Given the description of an element on the screen output the (x, y) to click on. 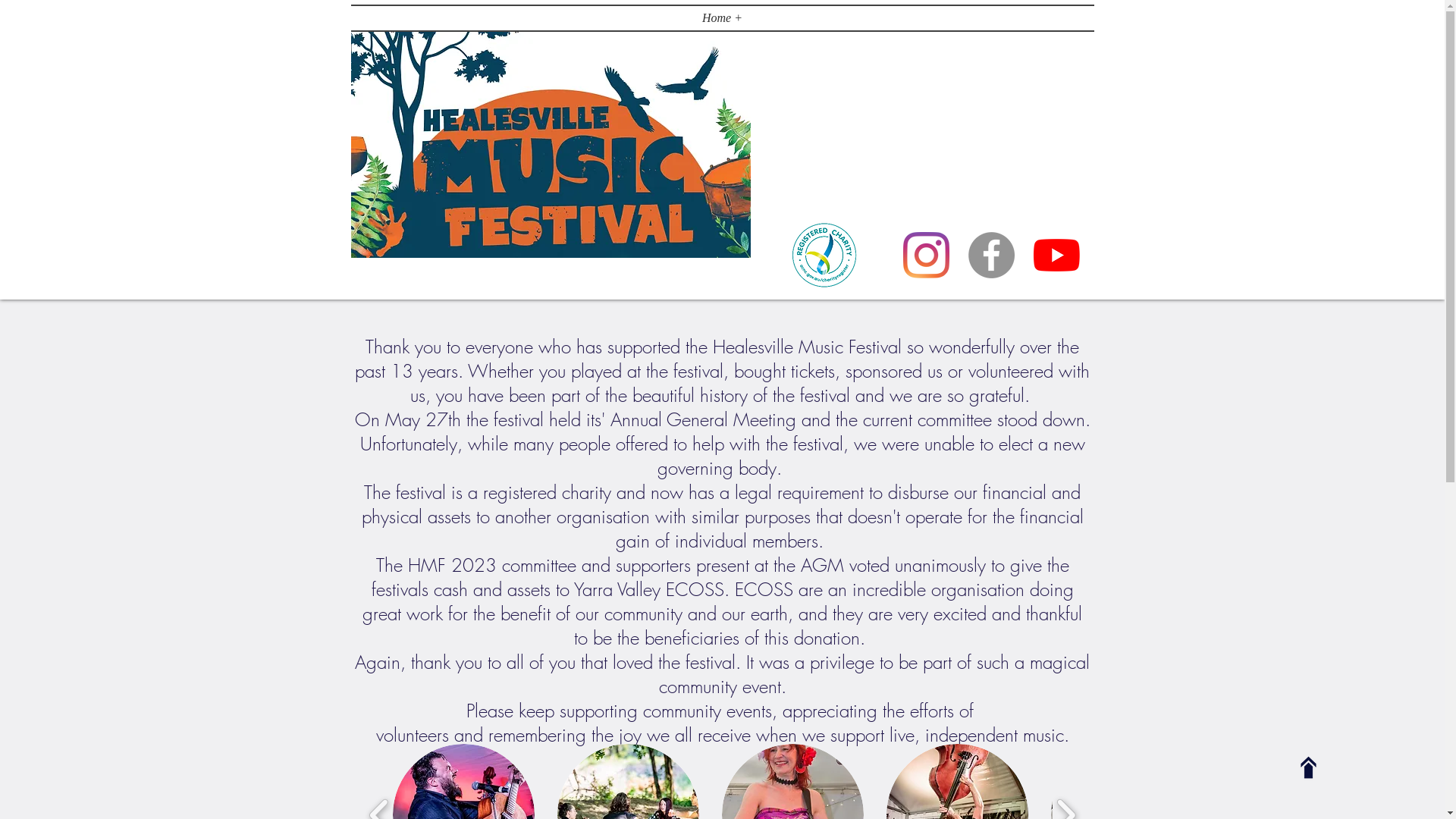
Home + Element type: text (721, 17)
